Given the description of an element on the screen output the (x, y) to click on. 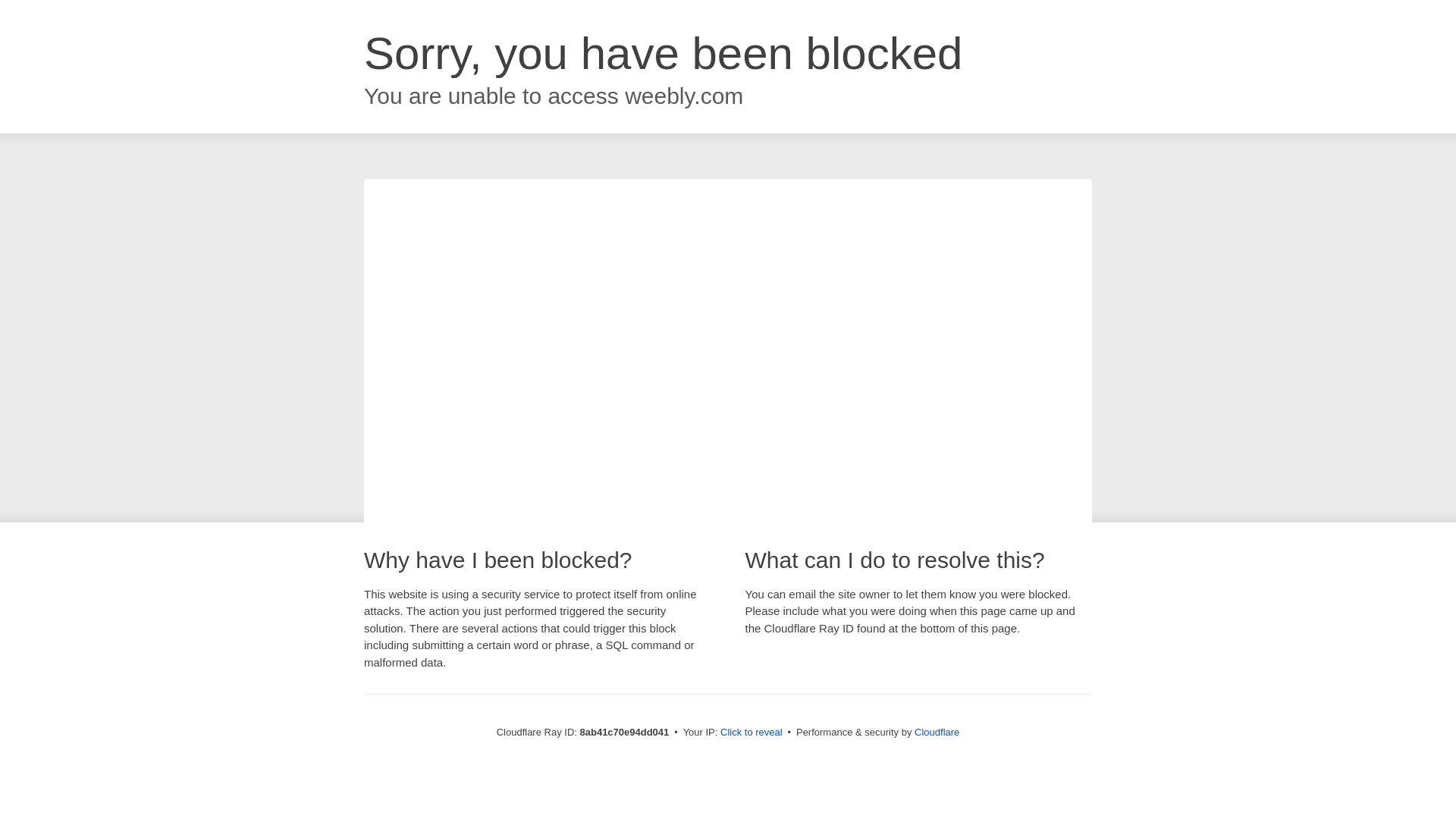
Click to reveal (751, 732)
Cloudflare (936, 731)
